Given the description of an element on the screen output the (x, y) to click on. 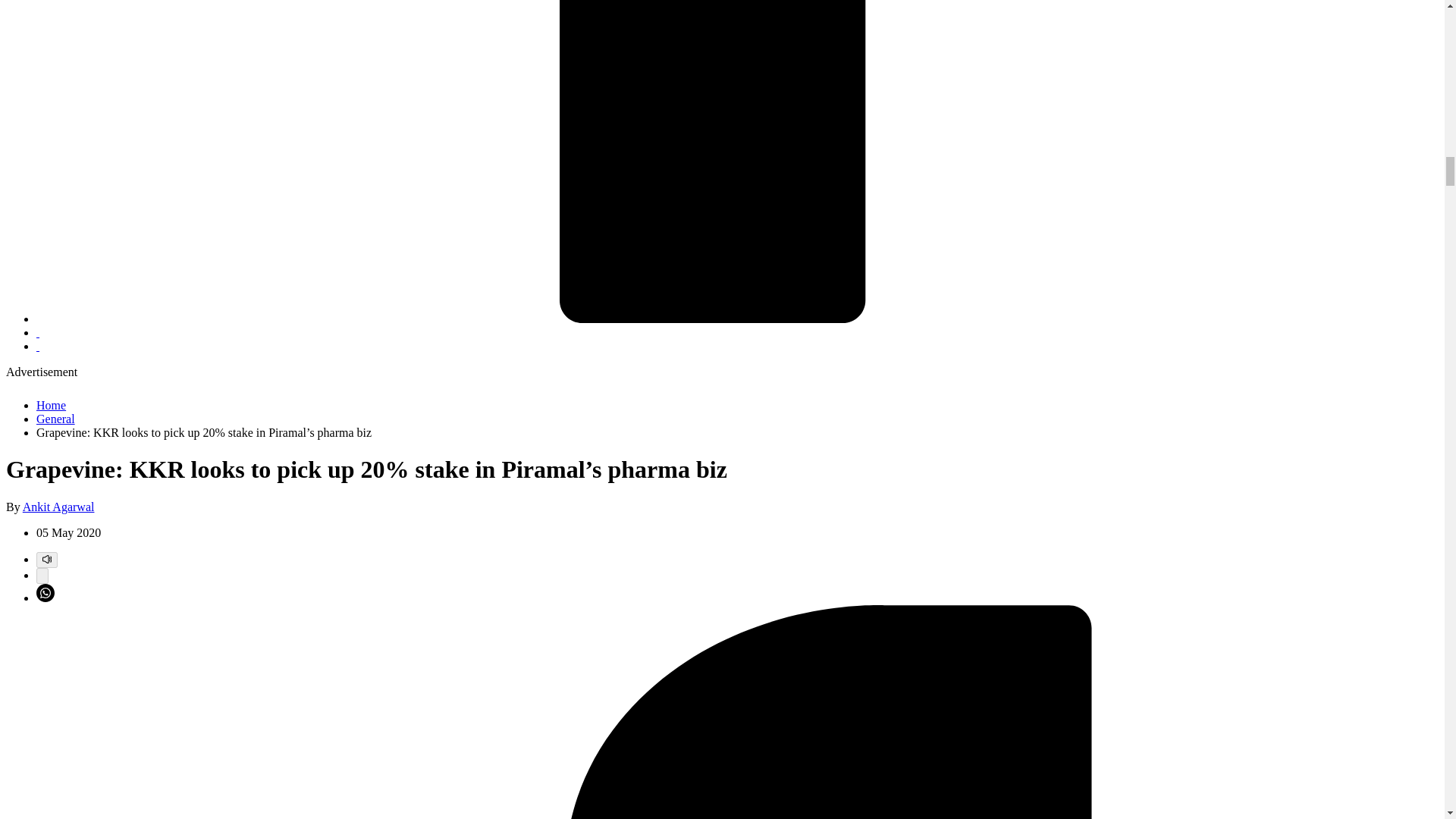
General (55, 418)
Home (50, 404)
Ankit Agarwal (58, 506)
